Given the description of an element on the screen output the (x, y) to click on. 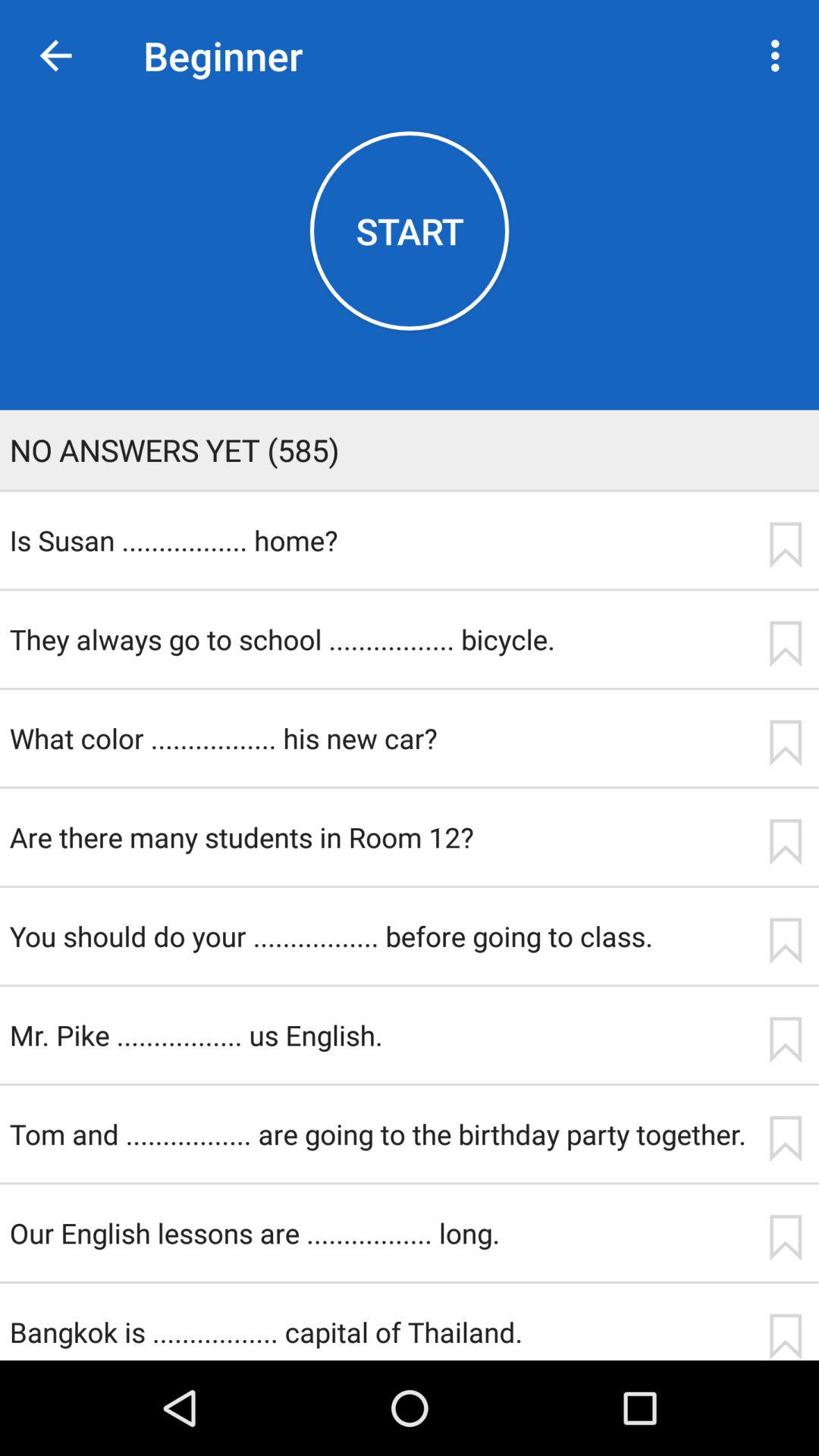
mark the question (784, 841)
